Given the description of an element on the screen output the (x, y) to click on. 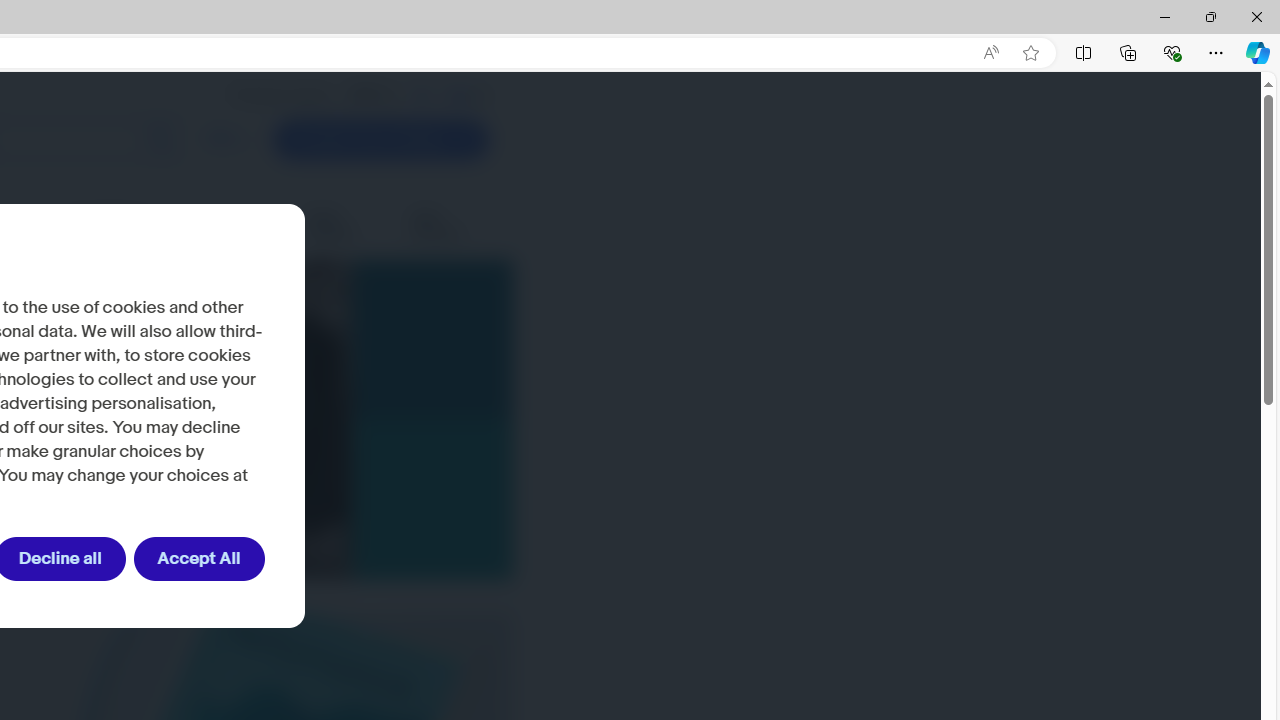
Class: search-input__btn (160, 139)
SEA (459, 95)
Create Your Listing (380, 139)
Marketing (250, 226)
